Given the description of an element on the screen output the (x, y) to click on. 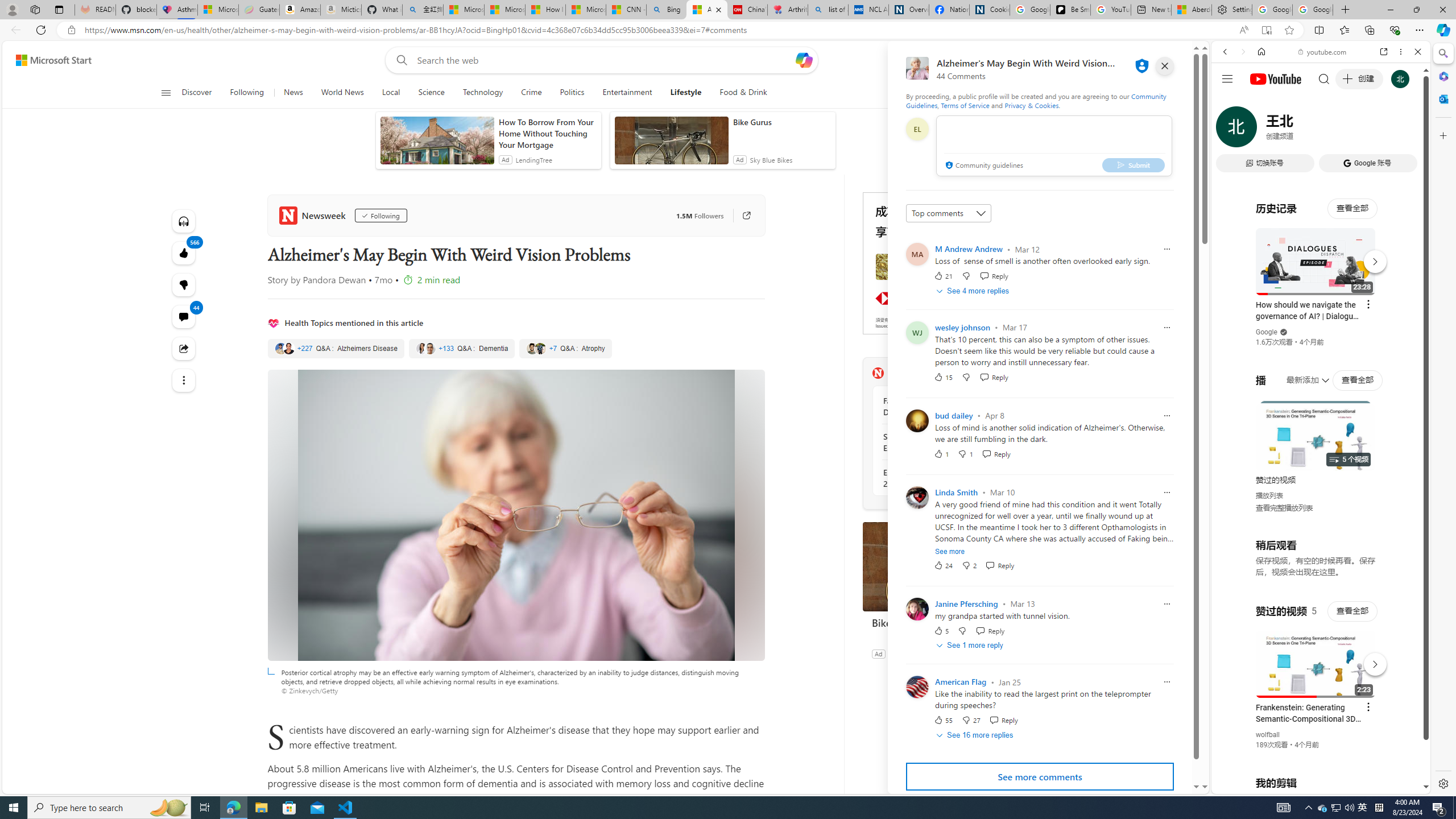
anim-content (671, 144)
1 Like (940, 453)
Tab actions menu (58, 9)
View site information (70, 29)
Search videos from youtube.com (1299, 373)
Microsoft Start (585, 9)
Open navigation menu (164, 92)
Class: qc-adchoices-link top-right  (1027, 196)
View comments 44 Comment (183, 316)
Open link in new tab (1383, 51)
Search Filter, IMAGES (1262, 129)
Technology (483, 92)
